Given the description of an element on the screen output the (x, y) to click on. 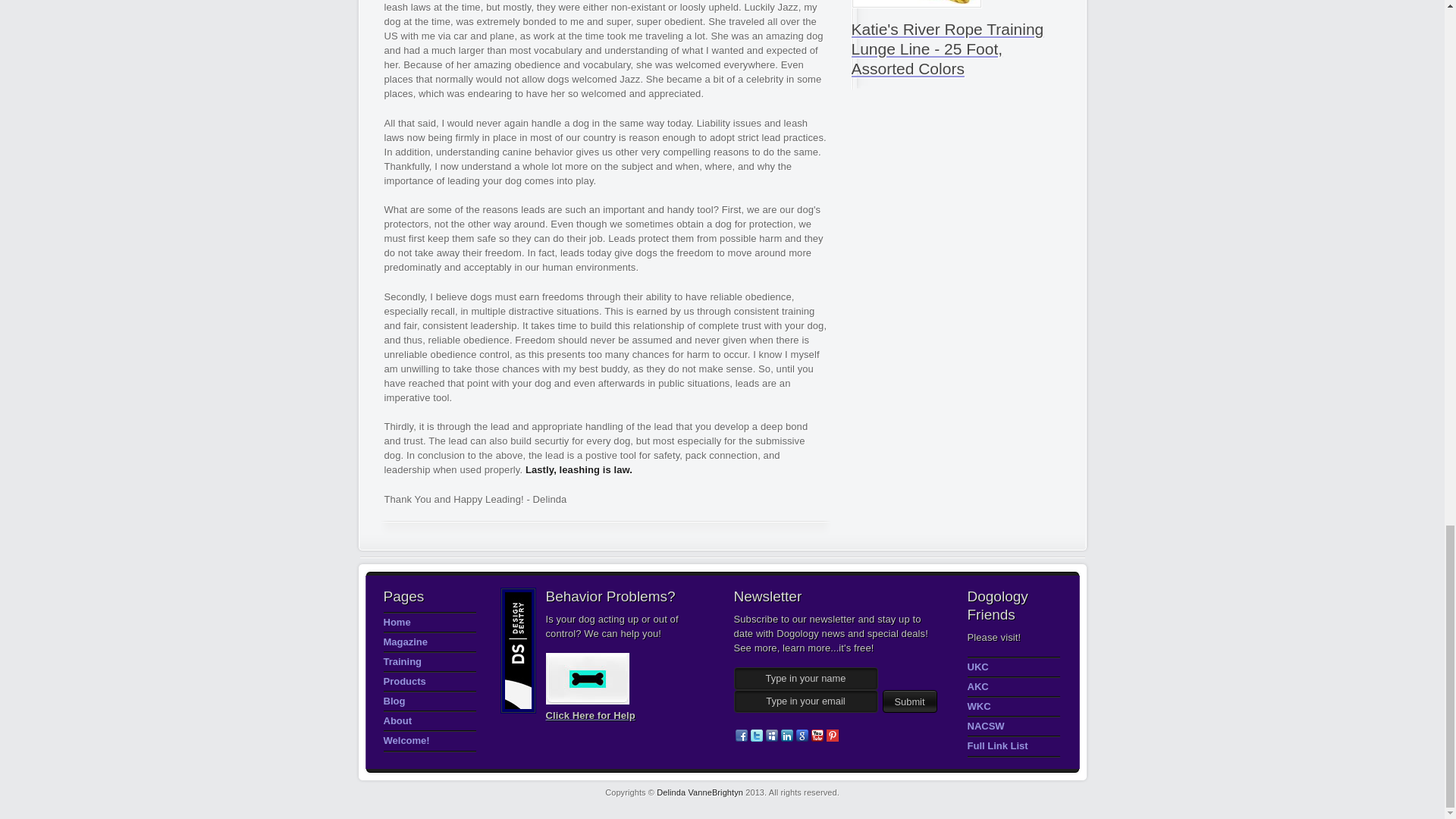
Submit (909, 701)
Type in your email (805, 701)
Type in your name (805, 678)
Type in your email (805, 701)
Type in your name (805, 678)
